Given the description of an element on the screen output the (x, y) to click on. 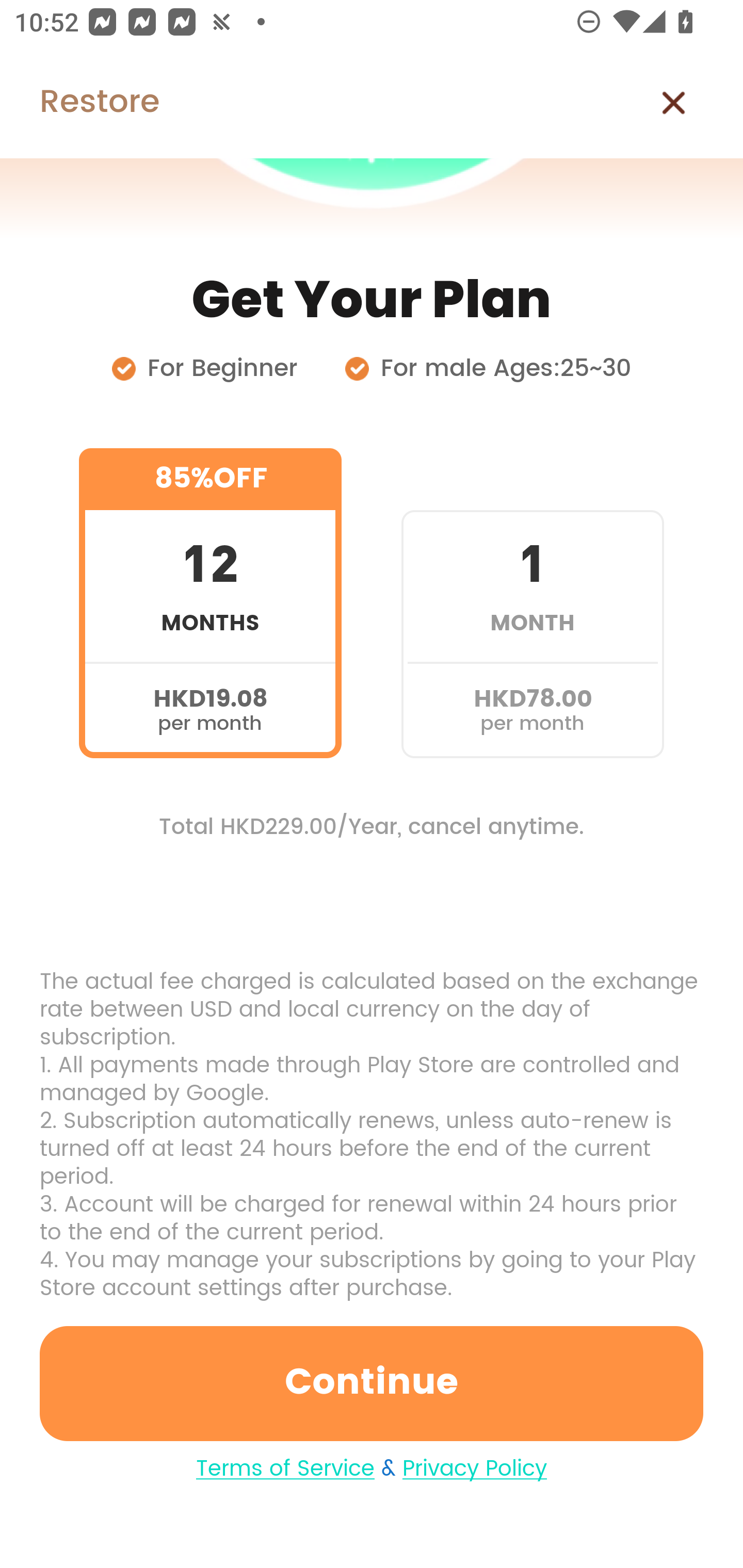
Restore (79, 102)
85%OFF 12 MONTHS per month HKD19.08 (209, 603)
1 MONTH per month HKD78.00 (532, 603)
Continue (371, 1383)
